Given the description of an element on the screen output the (x, y) to click on. 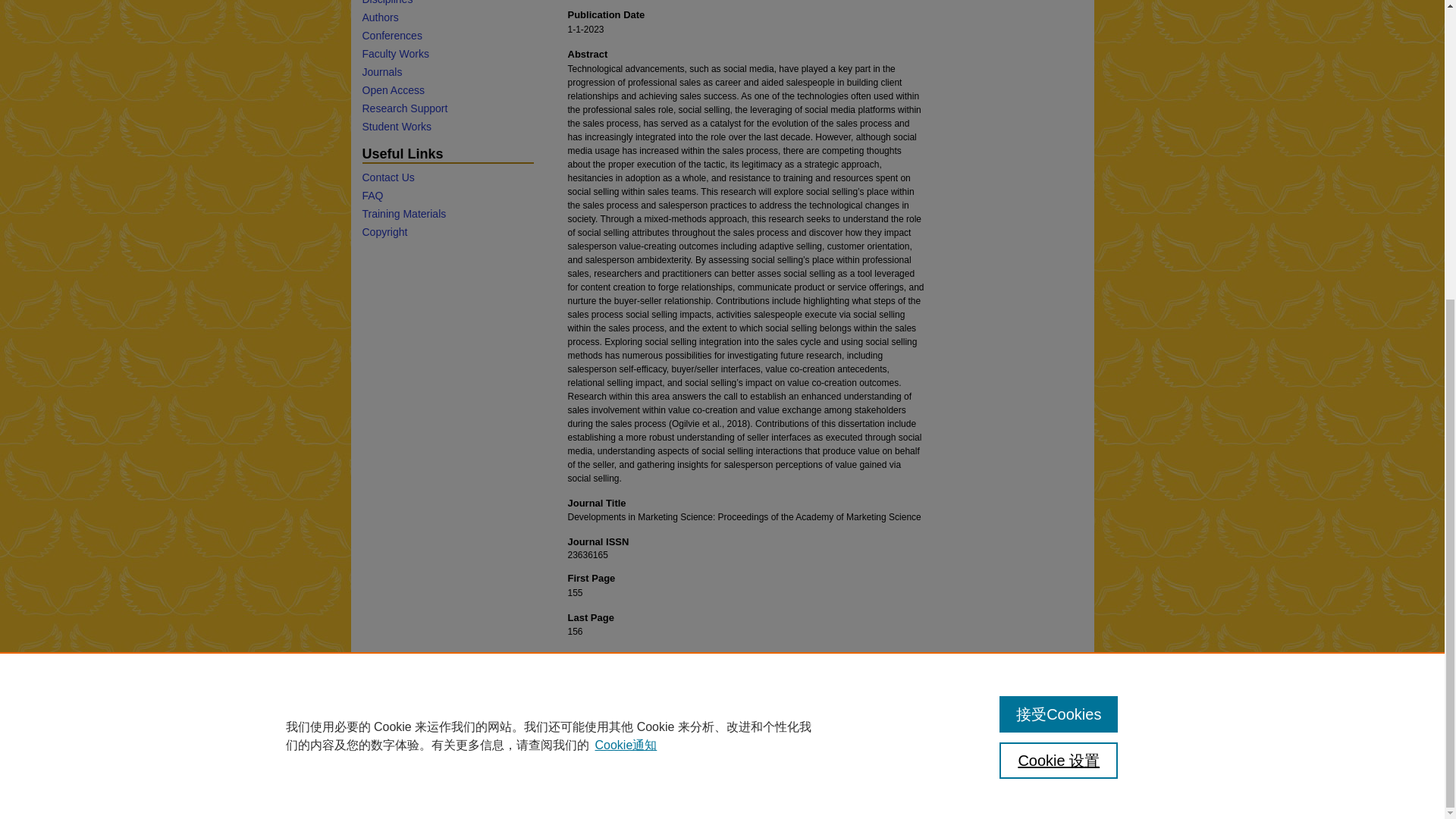
Faculty Works (447, 53)
Open Access (447, 90)
Conferences (447, 35)
Journals (447, 71)
Authors (447, 17)
Disciplines (447, 2)
